Given the description of an element on the screen output the (x, y) to click on. 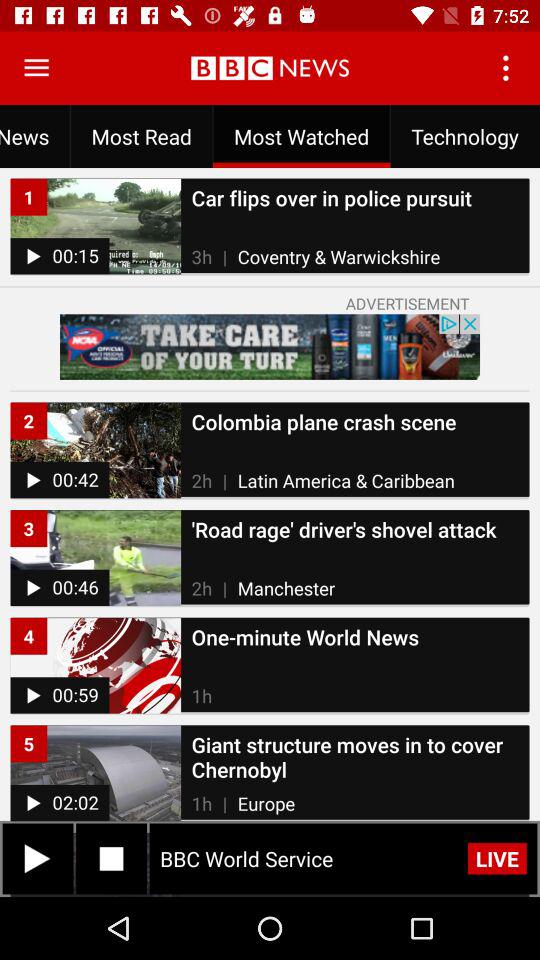
menu (36, 68)
